Given the description of an element on the screen output the (x, y) to click on. 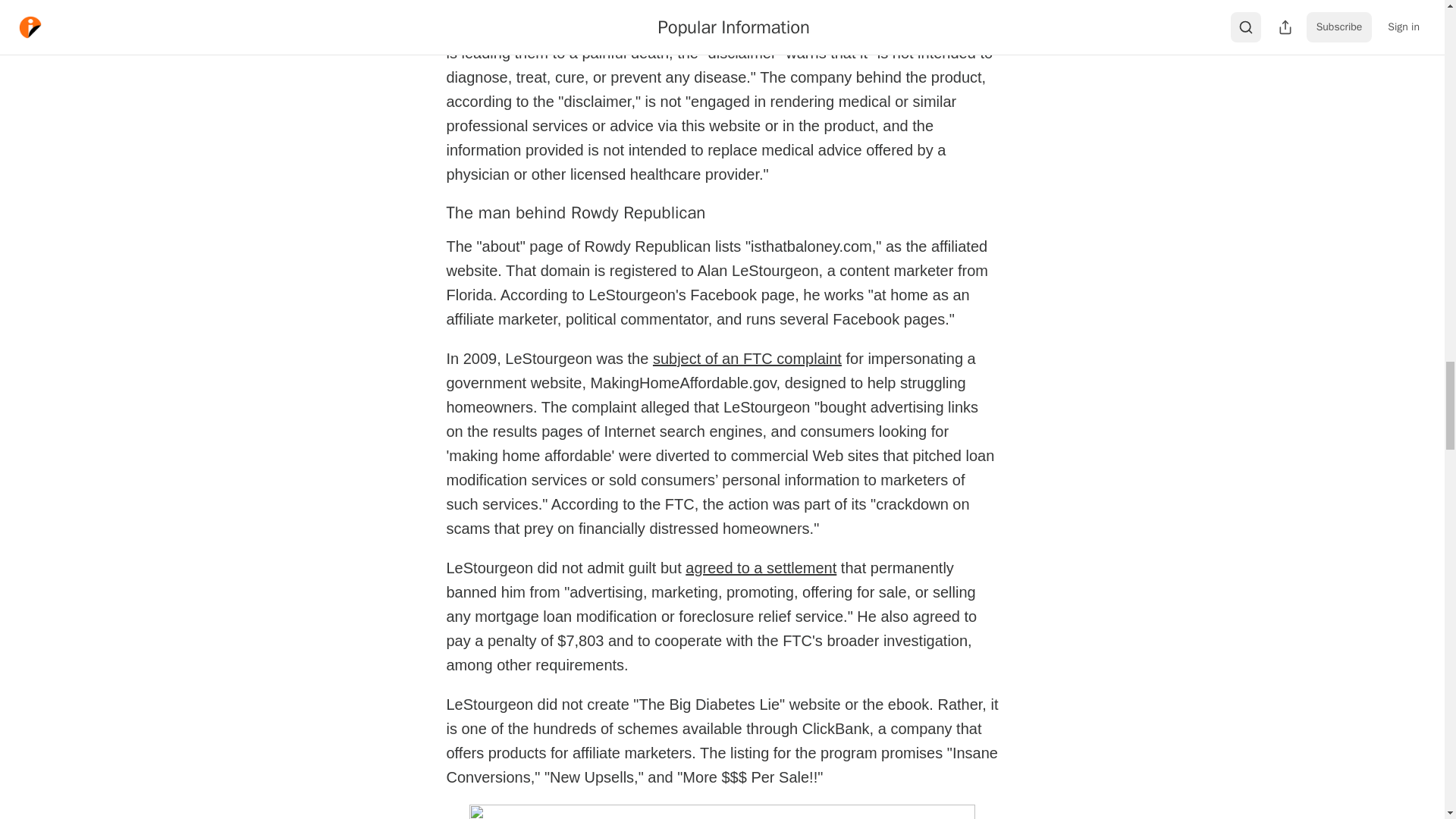
subject of an FTC complaint (746, 358)
agreed to a settlement (760, 567)
